Given the description of an element on the screen output the (x, y) to click on. 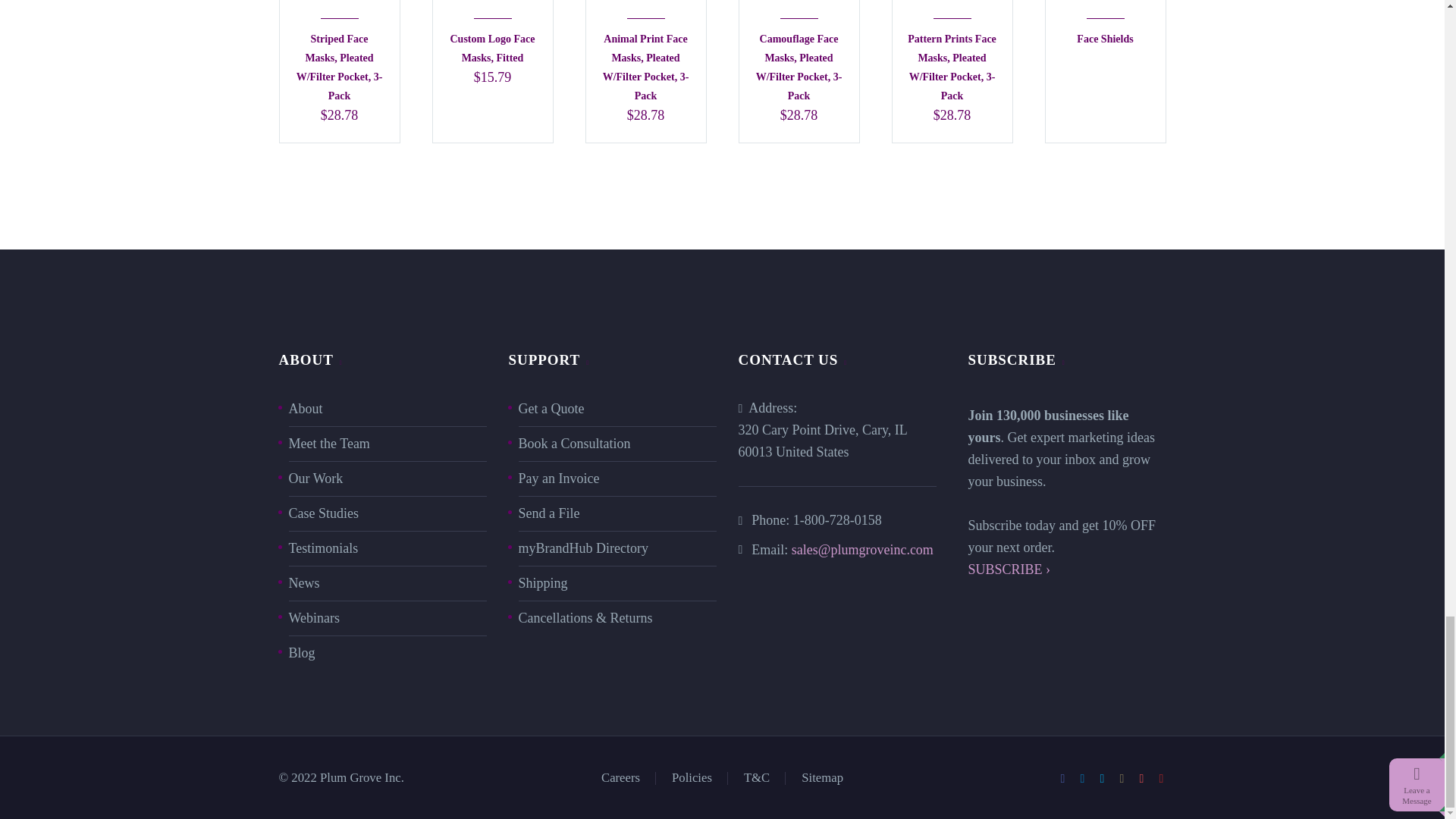
Facebook (1062, 778)
YouTube (1161, 778)
LinkedIn (1083, 778)
Pinterest (1141, 778)
Instagram (1122, 778)
Twitter (1102, 778)
